Given the description of an element on the screen output the (x, y) to click on. 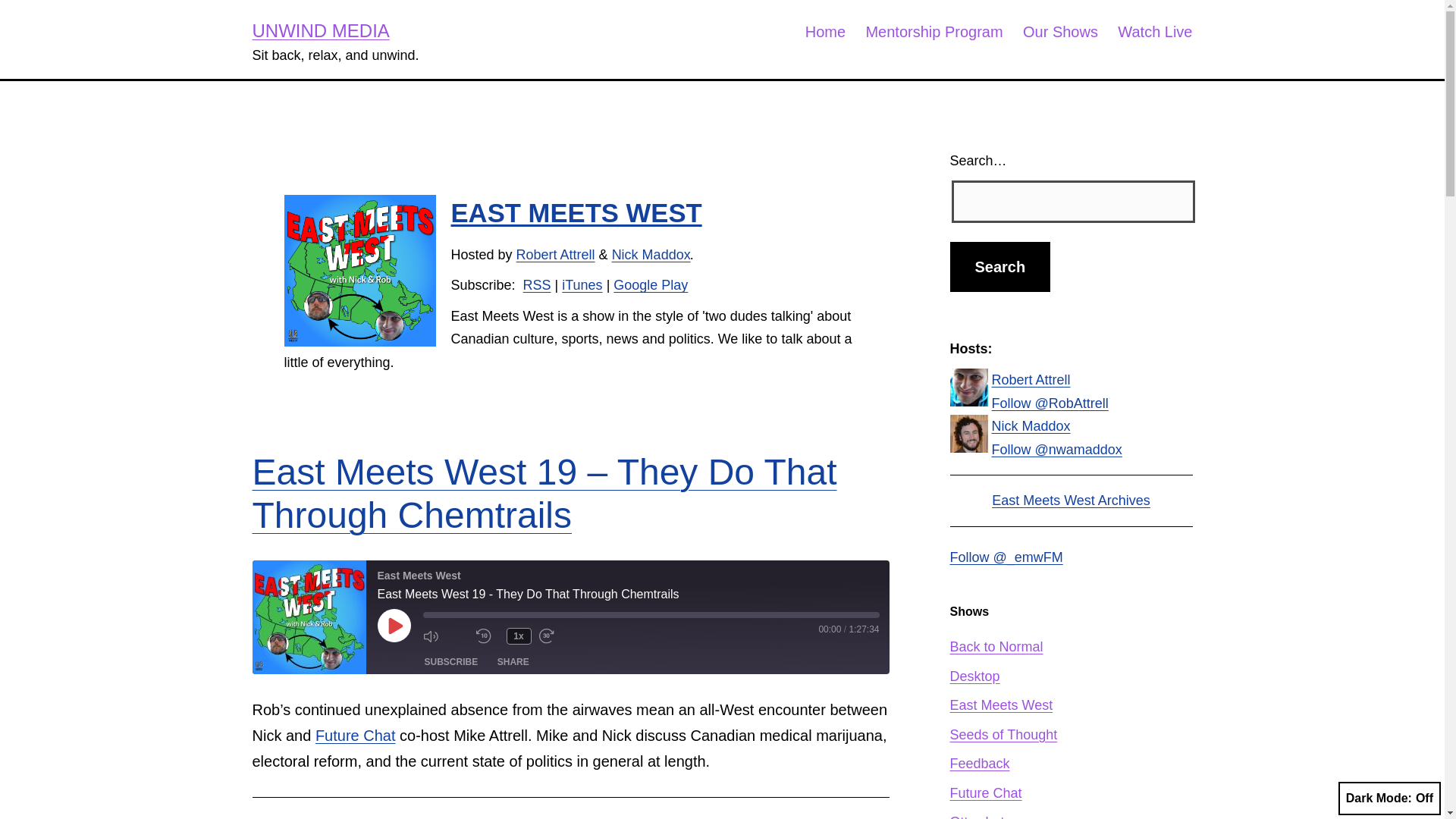
Home (825, 31)
Playback Speed (518, 636)
Nick Maddox (650, 254)
Fast Forward 30 seconds (560, 635)
iTunes (582, 284)
SUBSCRIBE (451, 661)
EAST MEETS WEST (575, 213)
Fast Forward 30 seconds (560, 635)
Rewind 10 Seconds (487, 635)
Rewind 10 seconds (487, 635)
Watch Live (1155, 31)
RSS (536, 284)
Mentorship Program (934, 31)
Subscribe (451, 661)
Robert Attrell (555, 254)
